Given the description of an element on the screen output the (x, y) to click on. 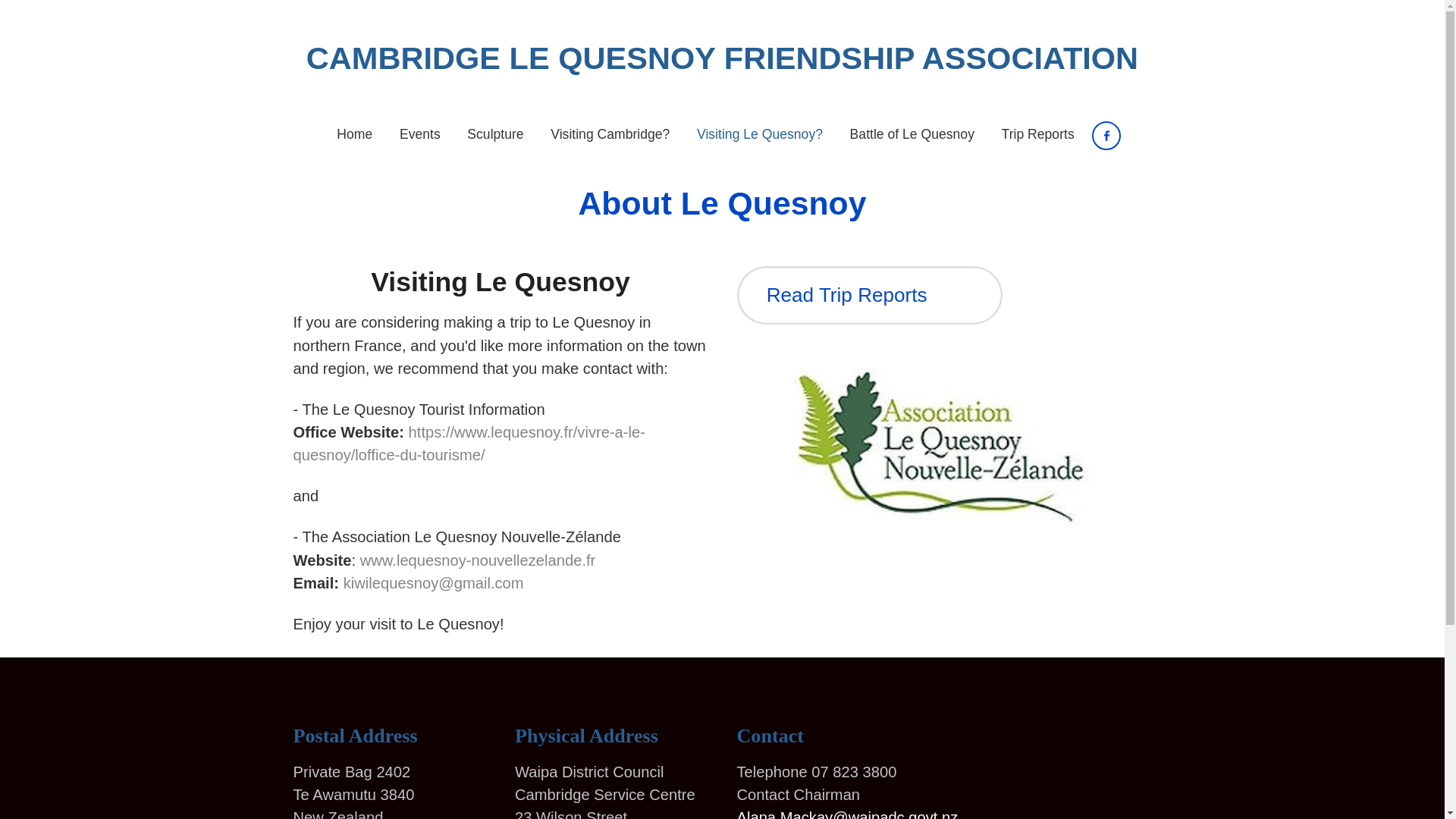
Battle of Le Quesnoy (911, 134)
A link to this website's Facebook. (1106, 135)
Home (355, 134)
Trip Reports (1037, 134)
Visiting Cambridge? (609, 134)
Sculpture (495, 134)
www.lequesnoy-nouvellezelande.fr (477, 560)
Events (418, 134)
Visiting Le Quesnoy? (758, 134)
Read Trip Reports (869, 295)
